Given the description of an element on the screen output the (x, y) to click on. 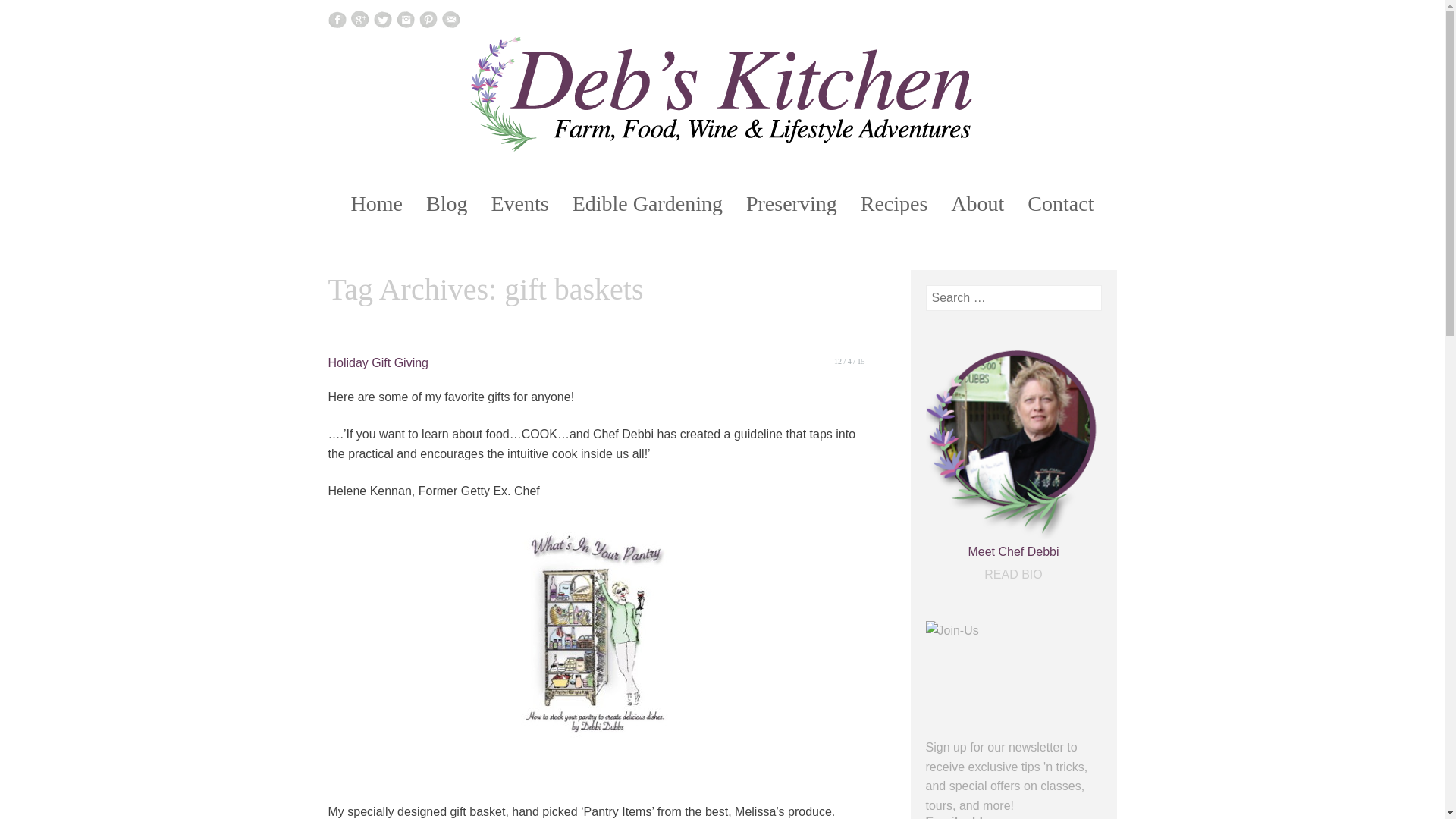
About (977, 203)
Events (519, 203)
Home (377, 203)
Recipes (894, 203)
Edible Gardening (647, 203)
Skip To Content (313, 192)
Contact (1059, 203)
Blog (446, 203)
Holiday Gift Giving (377, 362)
Preserving (790, 203)
